Given the description of an element on the screen output the (x, y) to click on. 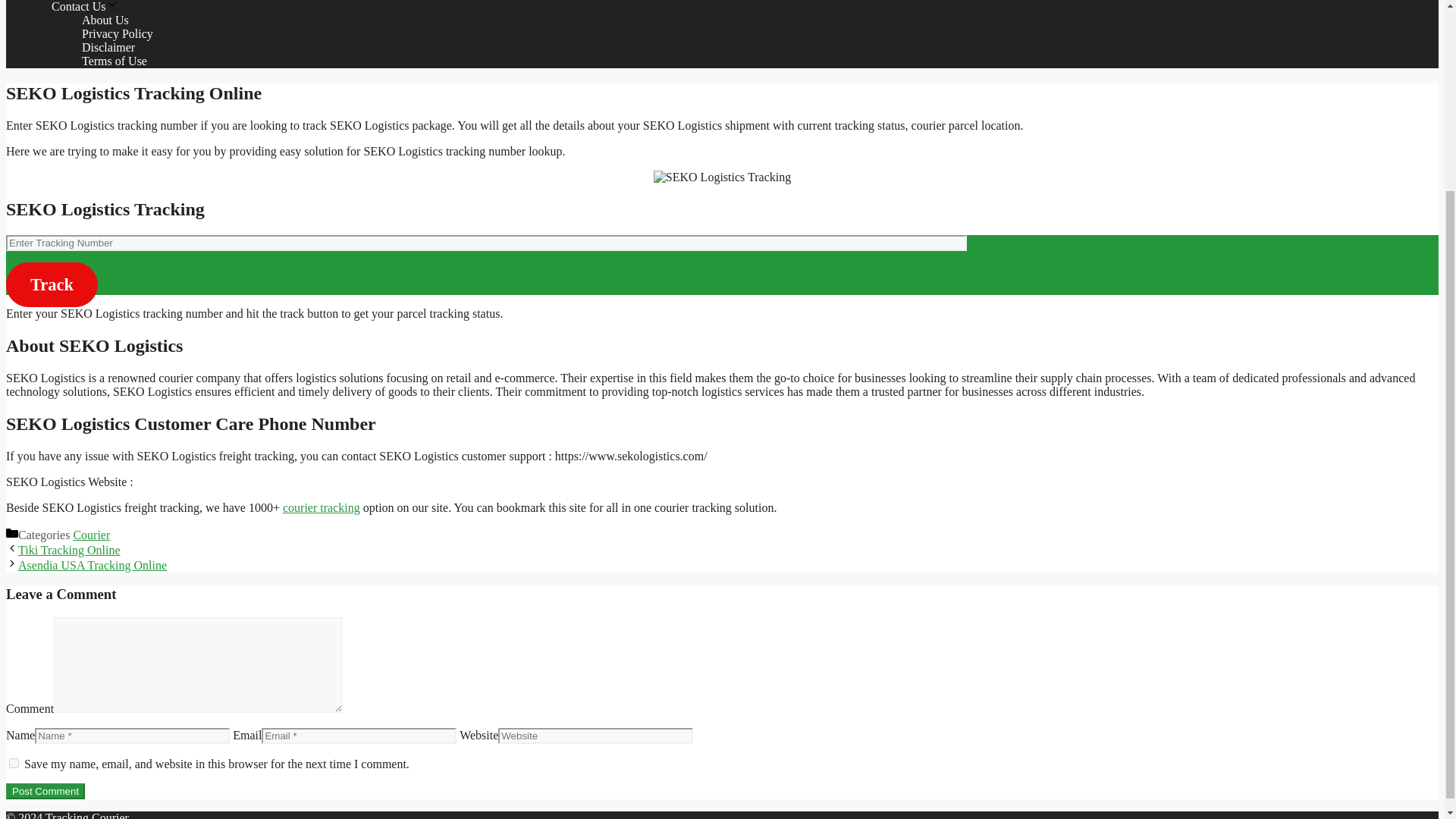
Post Comment (44, 790)
Disclaimer (108, 47)
Track (51, 284)
About Us (105, 19)
yes (13, 763)
Contact Us (83, 6)
Post Comment (44, 790)
Asendia USA Tracking Online (92, 564)
Courier (91, 534)
Terms of Use (114, 60)
